Given the description of an element on the screen output the (x, y) to click on. 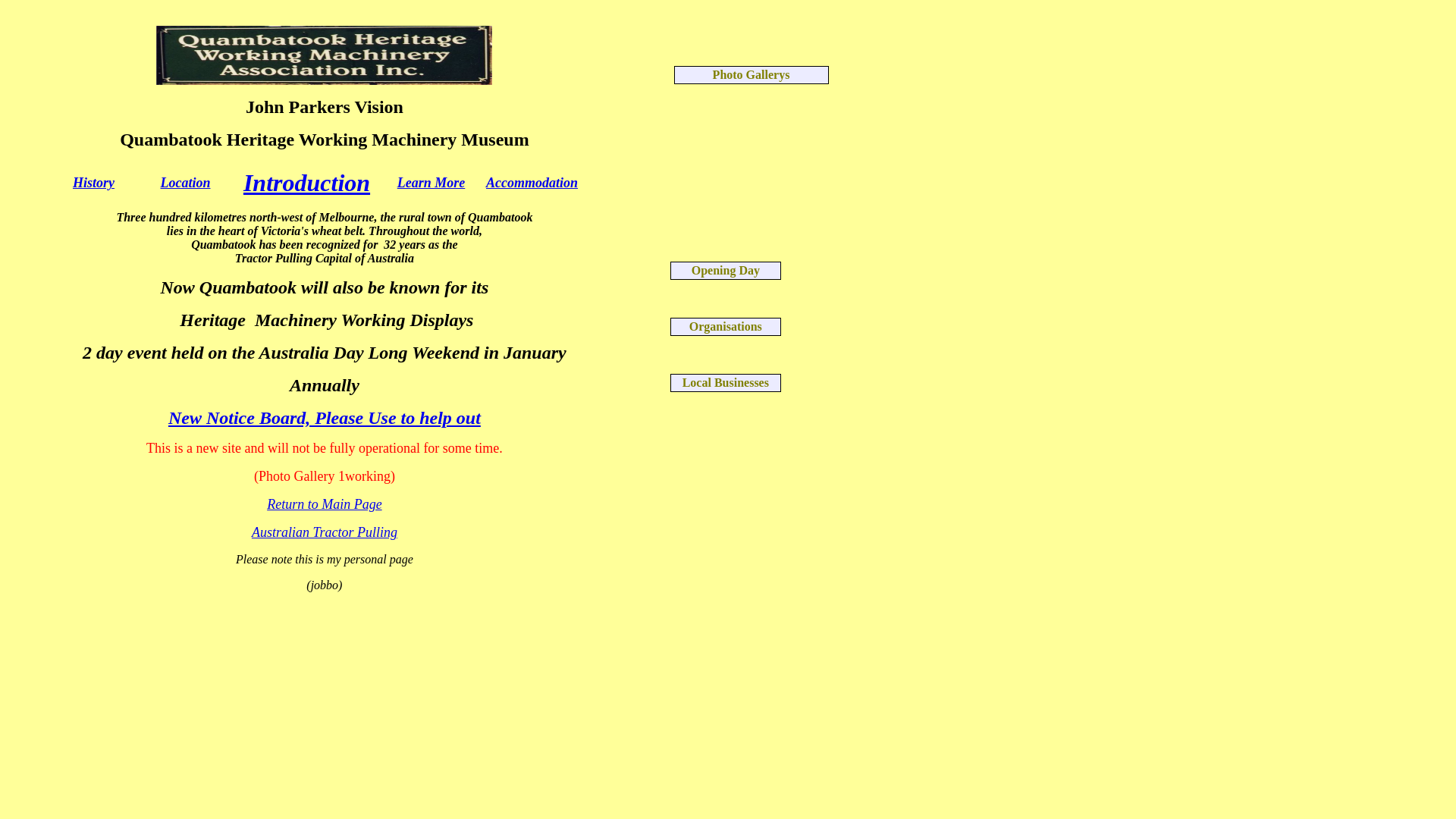
Learn More Element type: text (431, 182)
Local Businesses Element type: text (725, 382)
Accommodation Element type: text (531, 182)
Opening Day Element type: text (725, 269)
History Element type: text (93, 182)
Photo Gallerys Element type: text (750, 74)
Introduction Element type: text (306, 182)
Location Element type: text (185, 182)
New Notice Board, Please Use to help out Element type: text (324, 417)
Organisations Element type: text (725, 325)
Australian Tractor Pulling Element type: text (324, 531)
Return to Main Page Element type: text (323, 503)
